Given the description of an element on the screen output the (x, y) to click on. 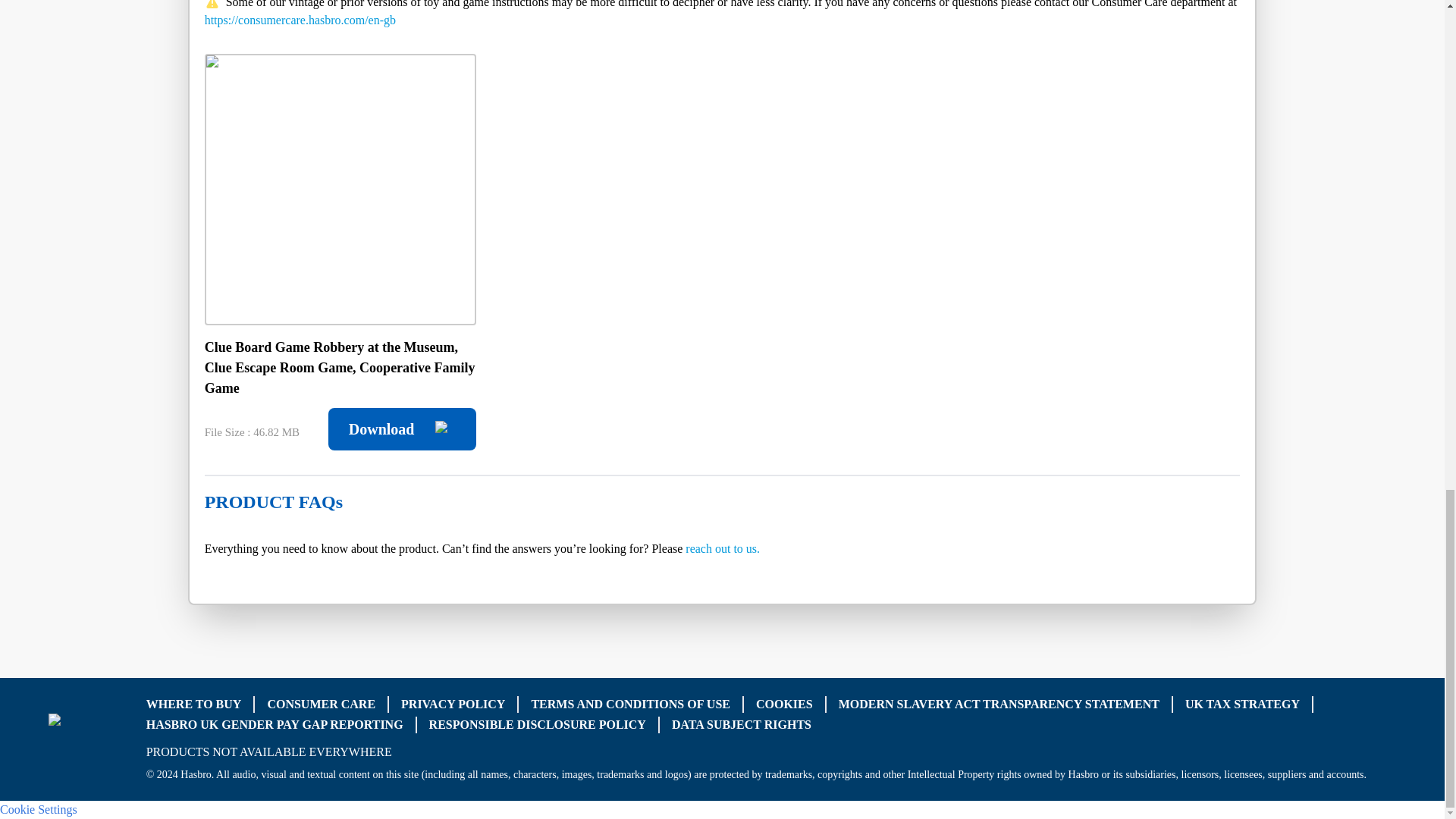
WHERE TO BUY (194, 703)
Download (402, 428)
PRIVACY POLICY (453, 703)
DATA SUBJECT RIGHTS (740, 724)
Cookie Settings (38, 809)
UK TAX STRATEGY (1242, 703)
MODERN SLAVERY ACT TRANSPARENCY STATEMENT (998, 703)
reach out to us. (722, 548)
CONSUMER CARE (320, 703)
RESPONSIBLE DISCLOSURE POLICY (537, 724)
